Given the description of an element on the screen output the (x, y) to click on. 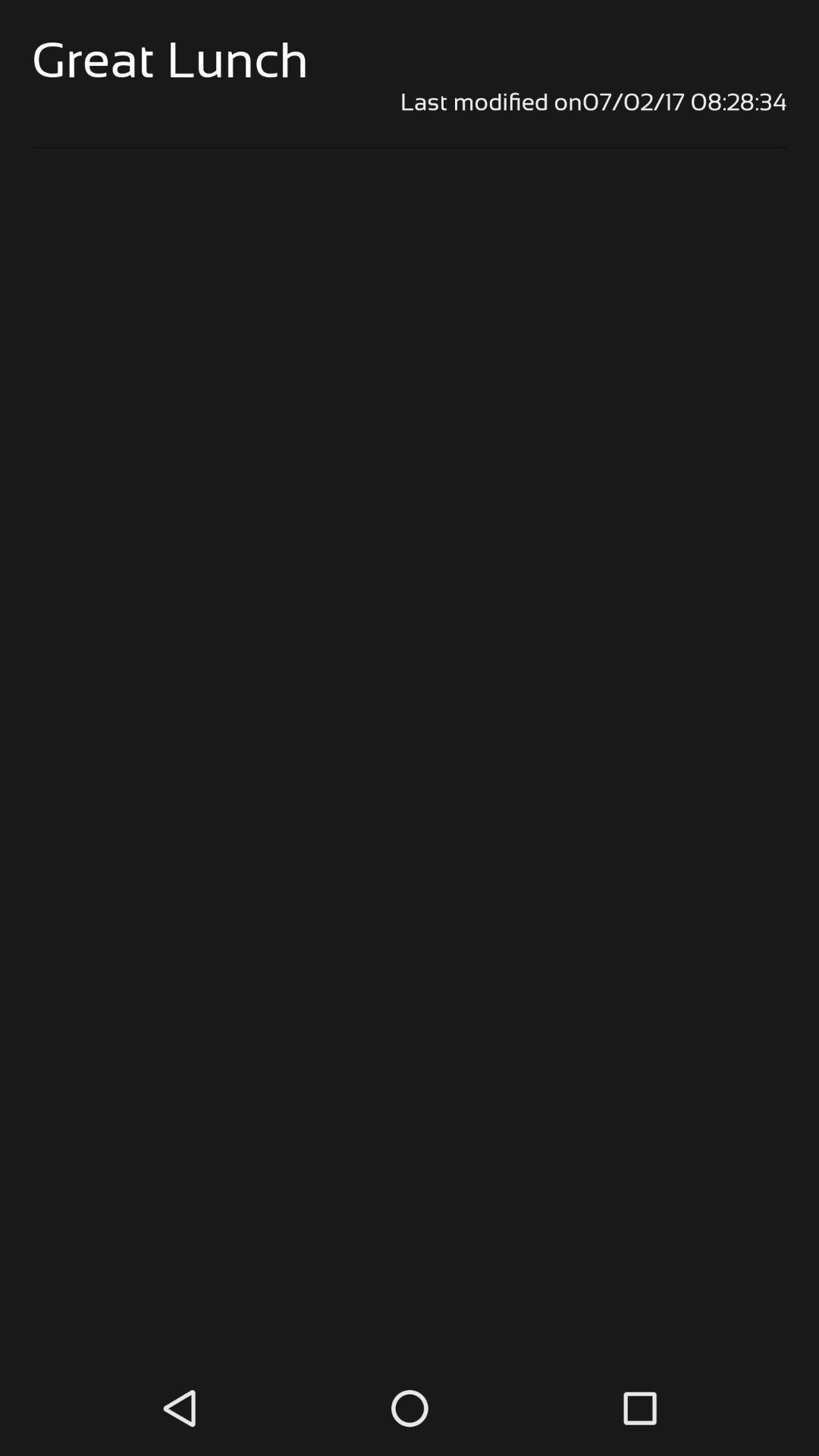
choose the great lunch (169, 59)
